Given the description of an element on the screen output the (x, y) to click on. 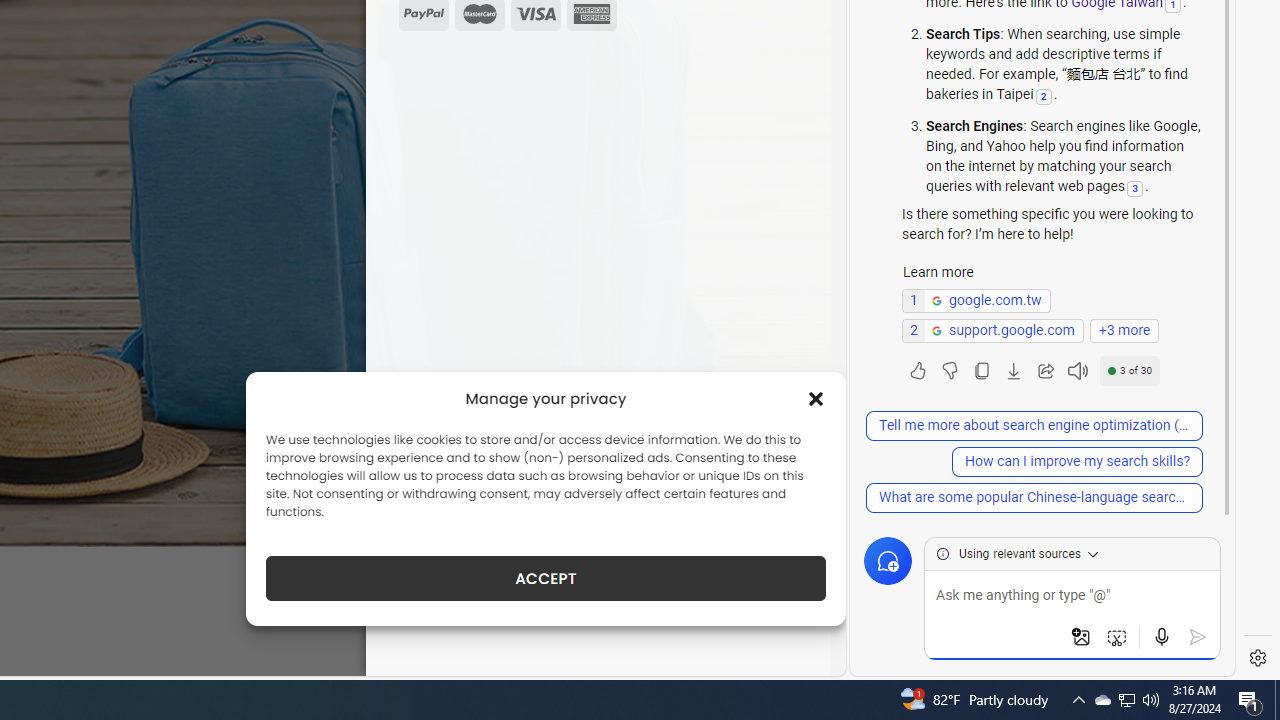
ACCEPT (545, 578)
Class: cmplz-close (815, 398)
